Given the description of an element on the screen output the (x, y) to click on. 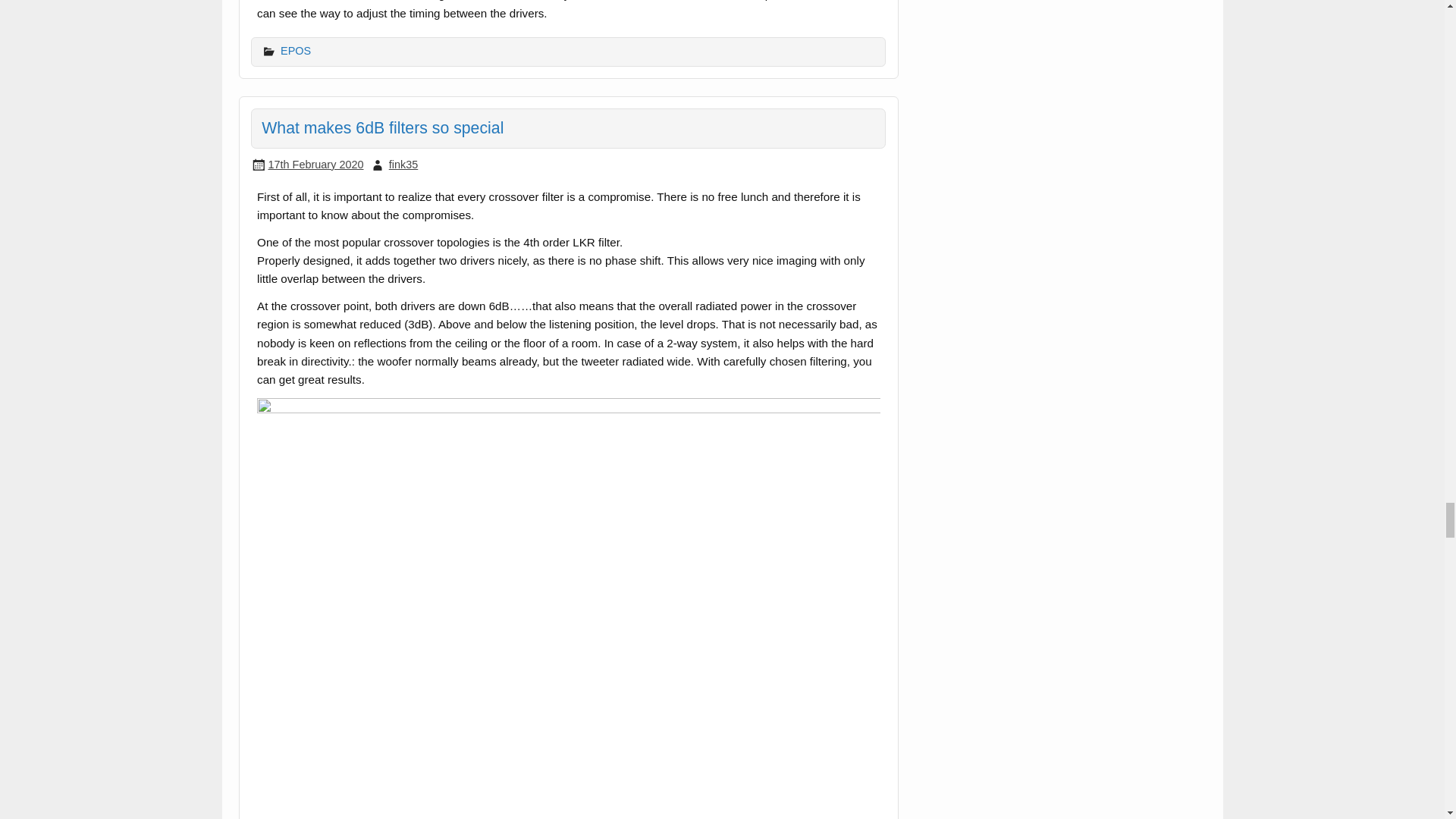
08:32 (314, 164)
17th February 2020 (314, 164)
What makes 6dB filters so special (382, 126)
View all posts by fink35 (403, 164)
EPOS (296, 50)
fink35 (403, 164)
